Given the description of an element on the screen output the (x, y) to click on. 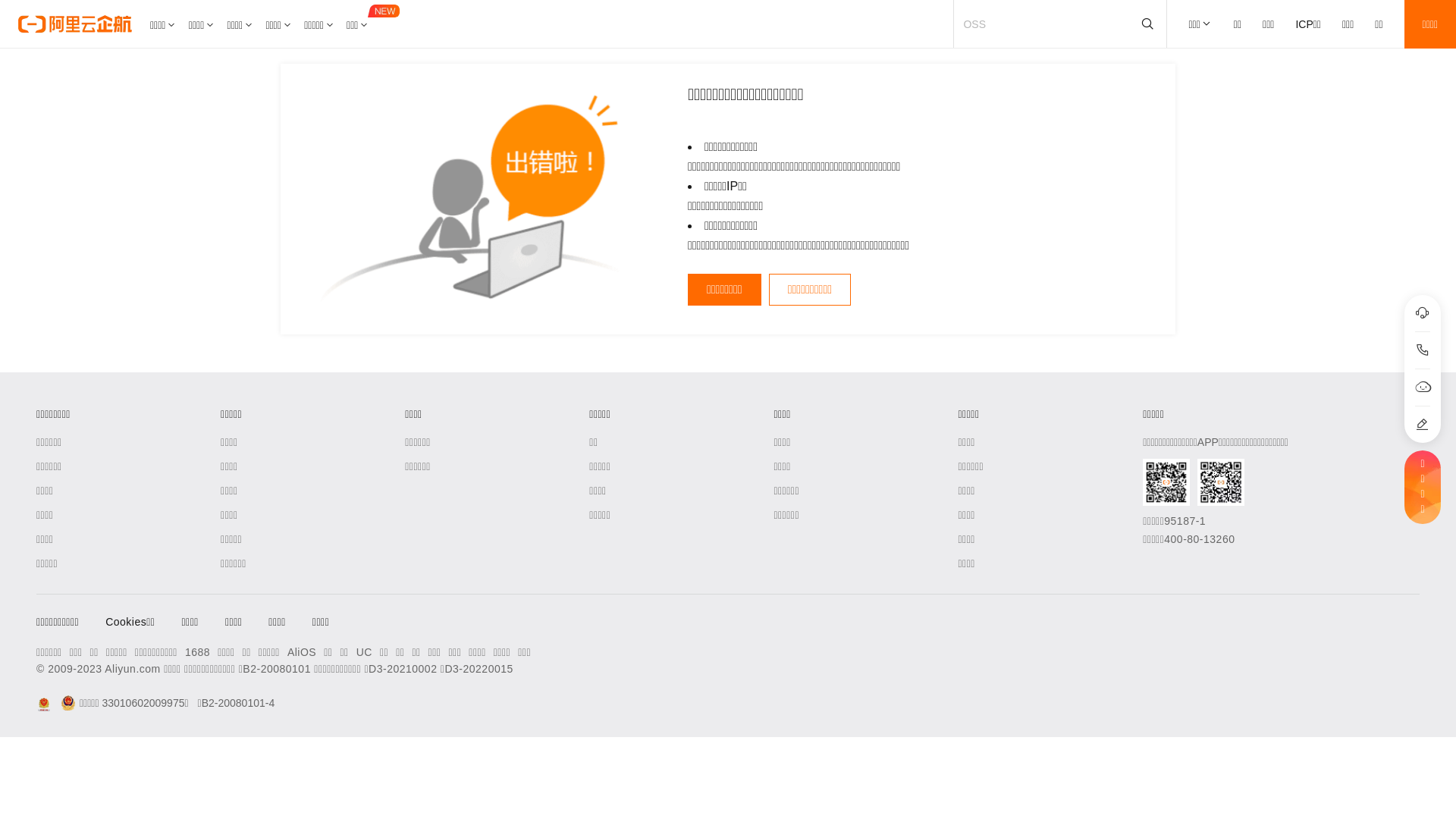
AliOS Element type: text (301, 652)
1688 Element type: text (197, 652)
UC Element type: text (364, 652)
